Given the description of an element on the screen output the (x, y) to click on. 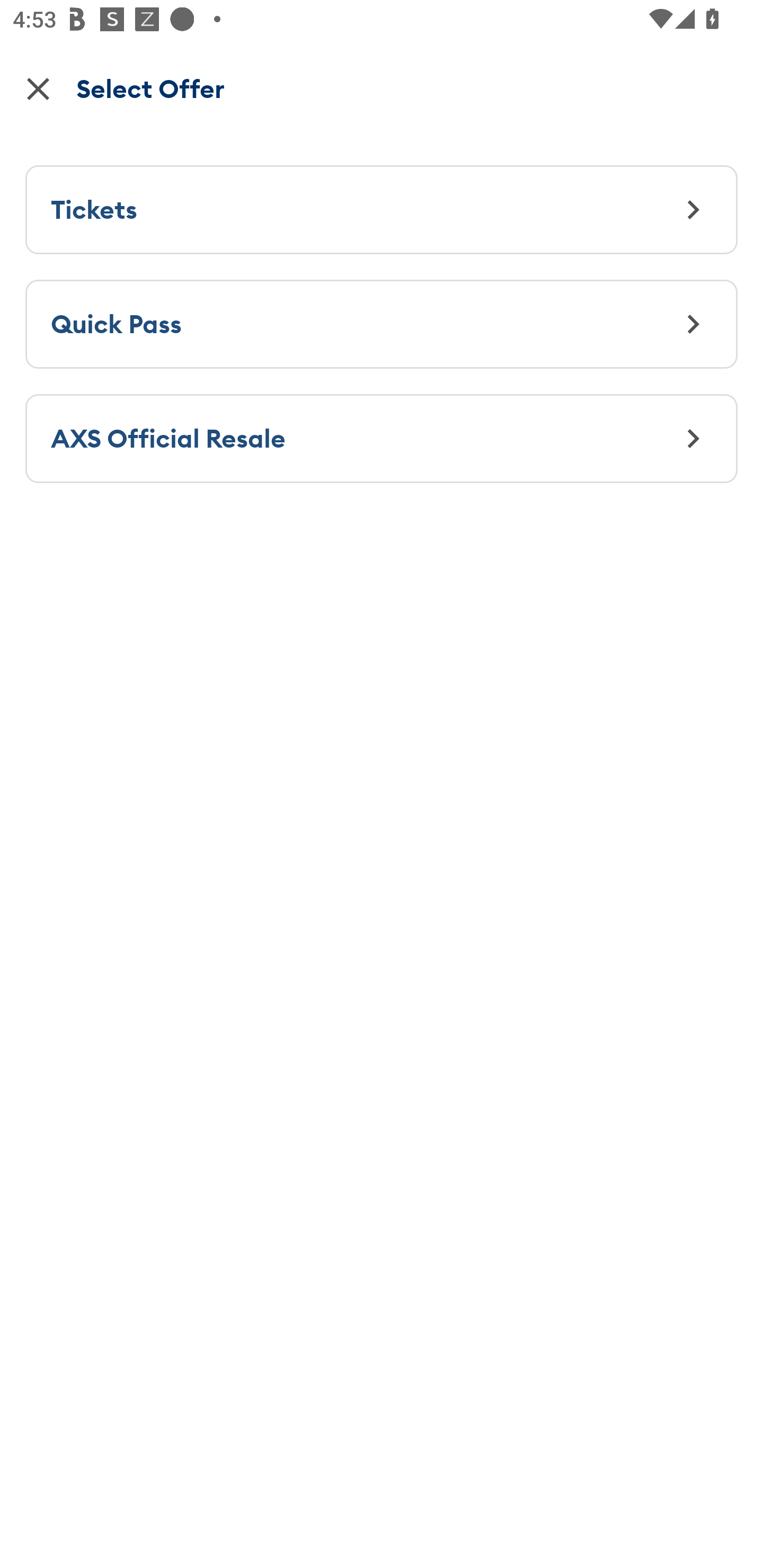
Close (38, 88)
Tickets (381, 209)
Quick Pass (381, 323)
AXS Official Resale (381, 437)
